Given the description of an element on the screen output the (x, y) to click on. 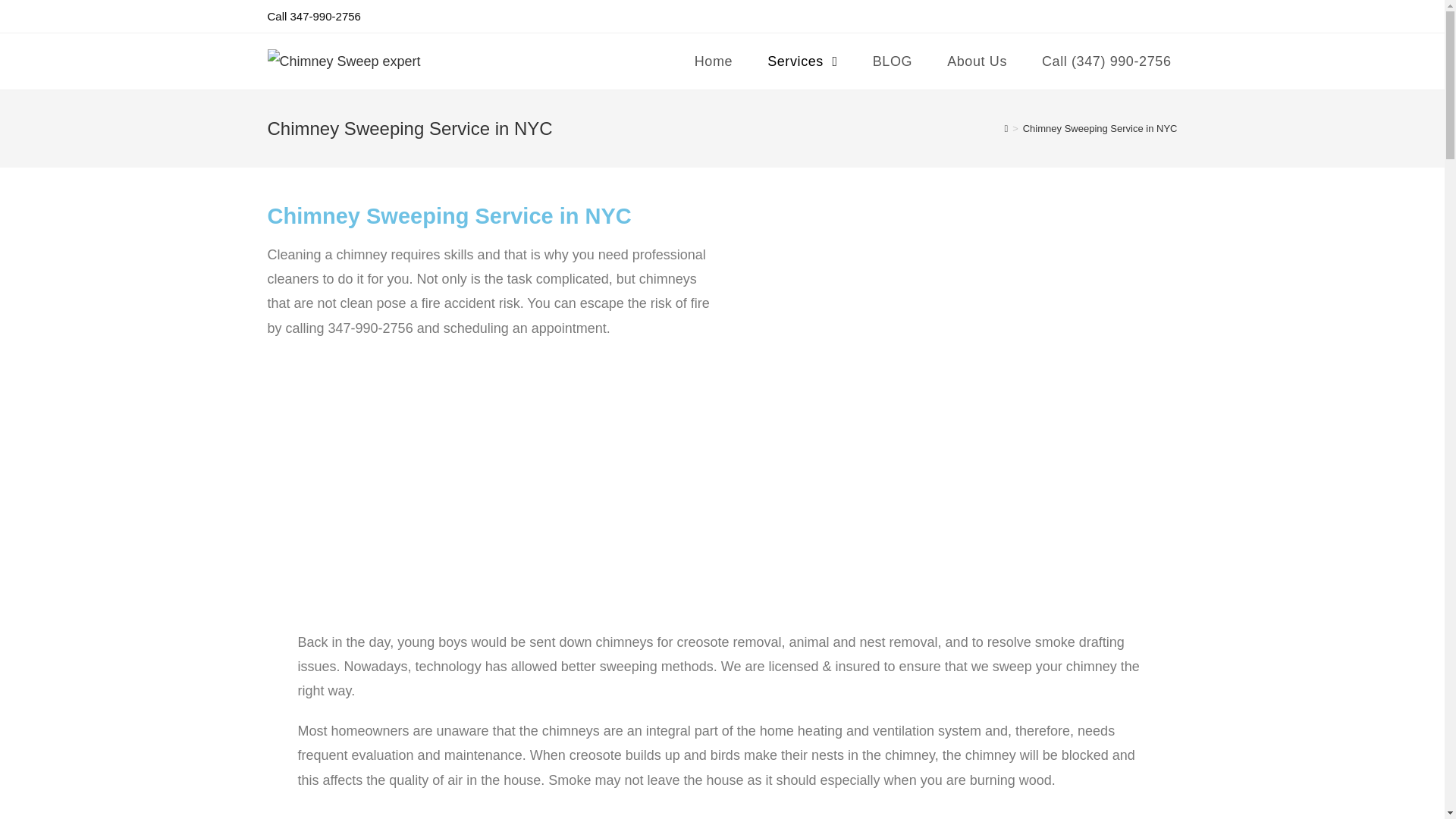
Services (802, 61)
BLOG (893, 61)
About Us (977, 61)
Chimney Sweeping Service in NYC (1100, 128)
Call 347-990-2756 (312, 15)
Home (713, 61)
